Given the description of an element on the screen output the (x, y) to click on. 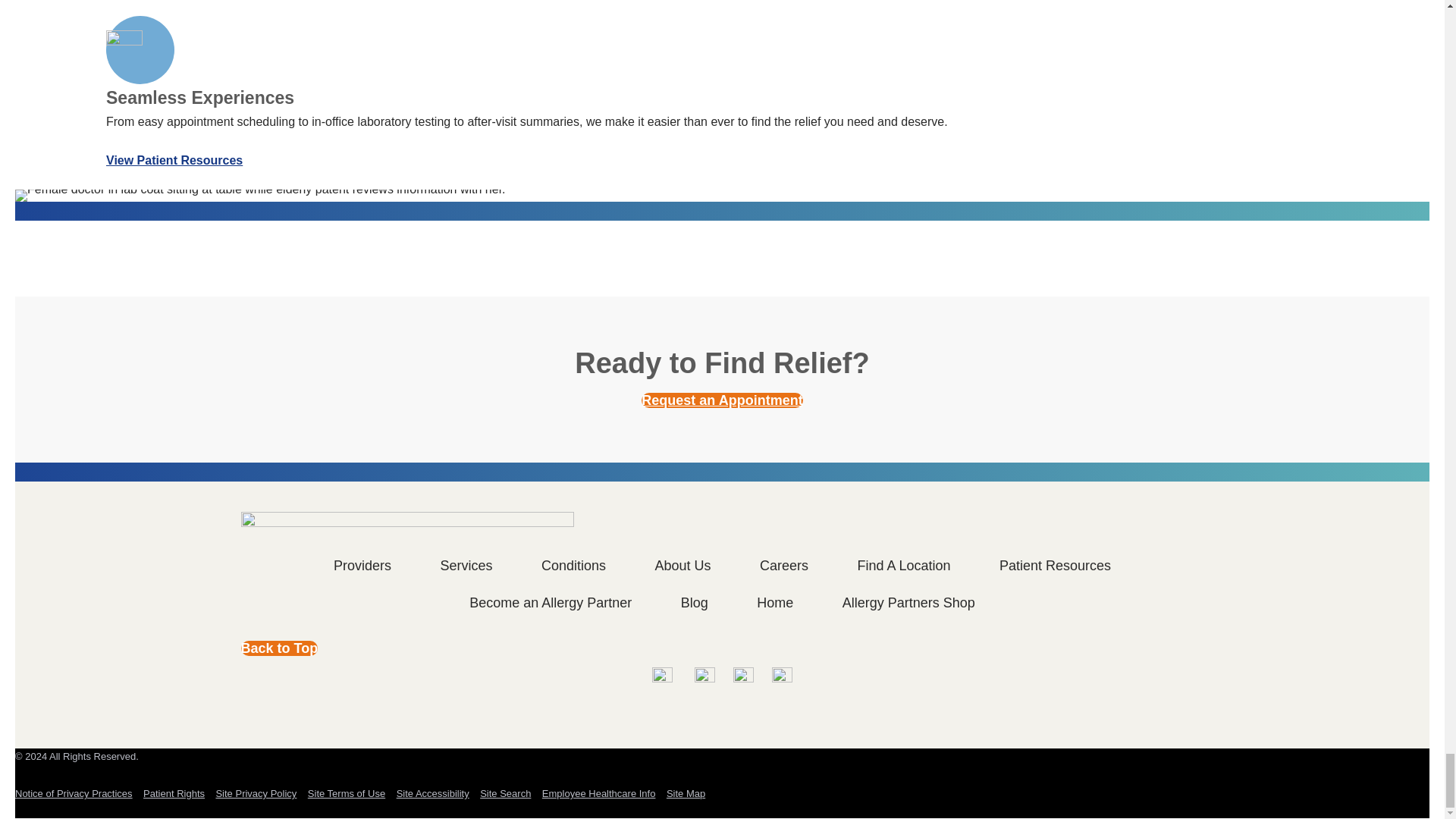
seamless-icon (124, 48)
Home (279, 648)
logo-footer (407, 529)
